Given the description of an element on the screen output the (x, y) to click on. 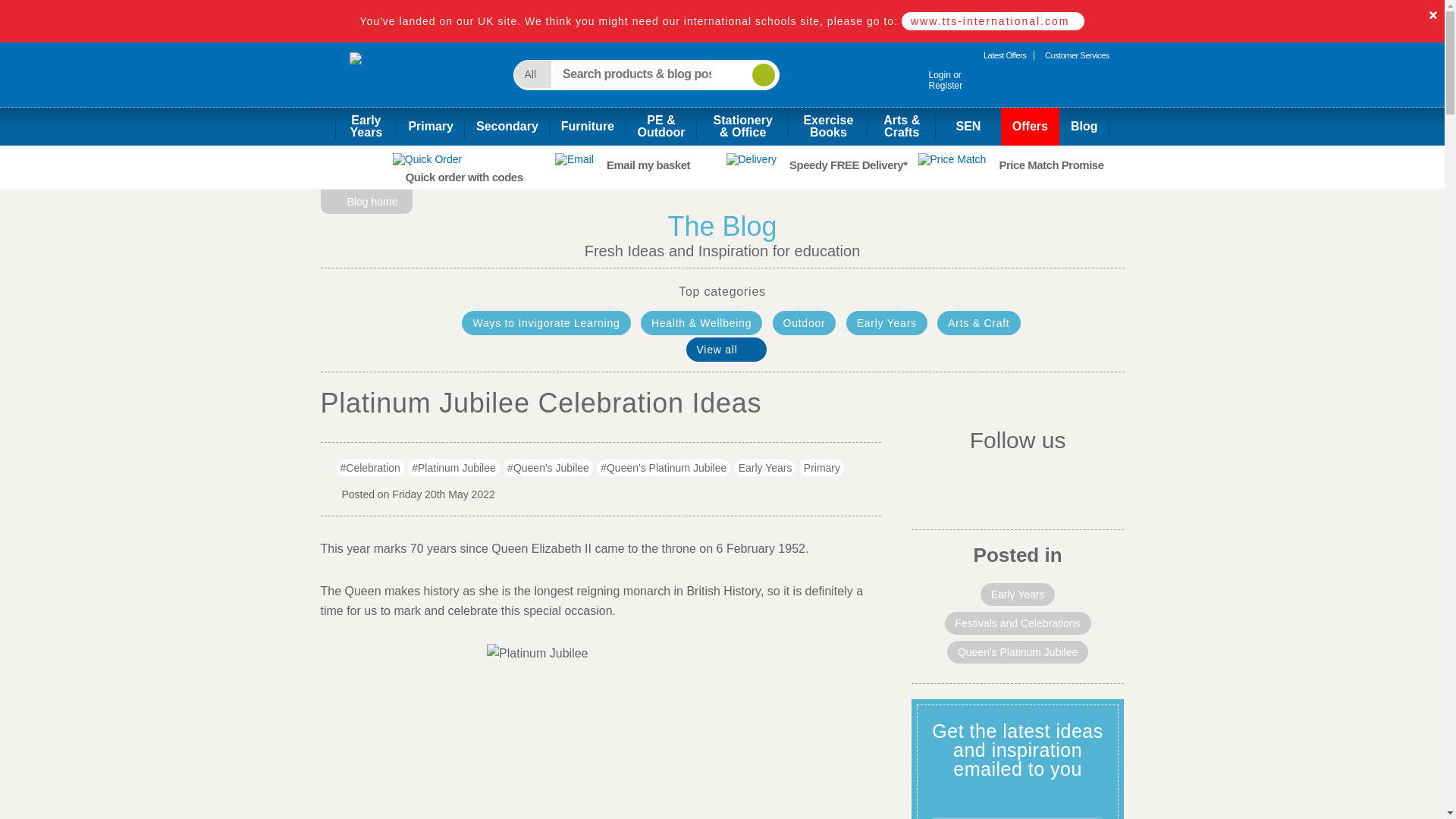
Latest Offers (1004, 54)
customer services (1076, 54)
Login or (931, 81)
www.tts-international.com (931, 81)
Customer Services (992, 21)
TTS School Resources Online Shop (1076, 54)
Early Years (403, 79)
Latest Offers (365, 126)
All (1004, 54)
